Given the description of an element on the screen output the (x, y) to click on. 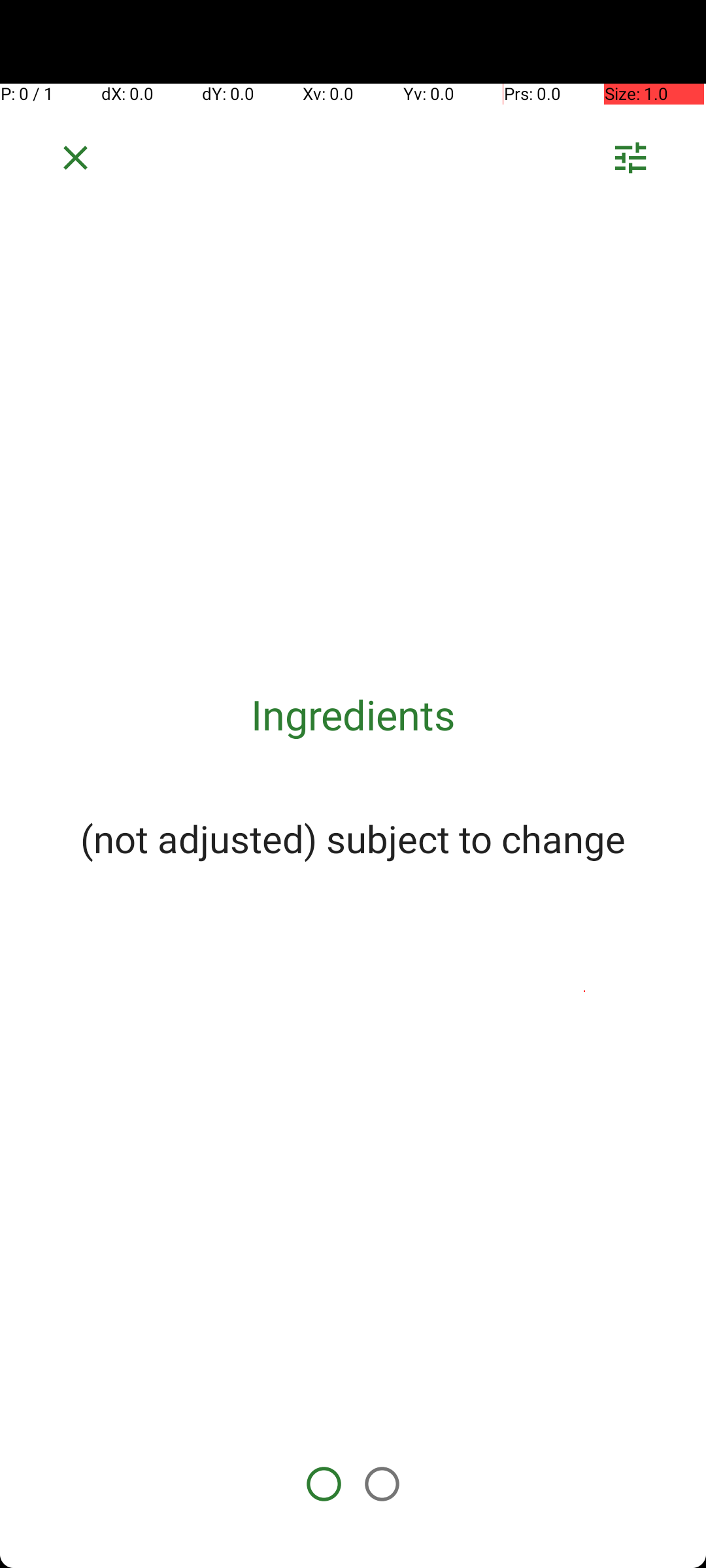
(not adjusted) subject to change Element type: android.widget.TextView (353, 838)
